Given the description of an element on the screen output the (x, y) to click on. 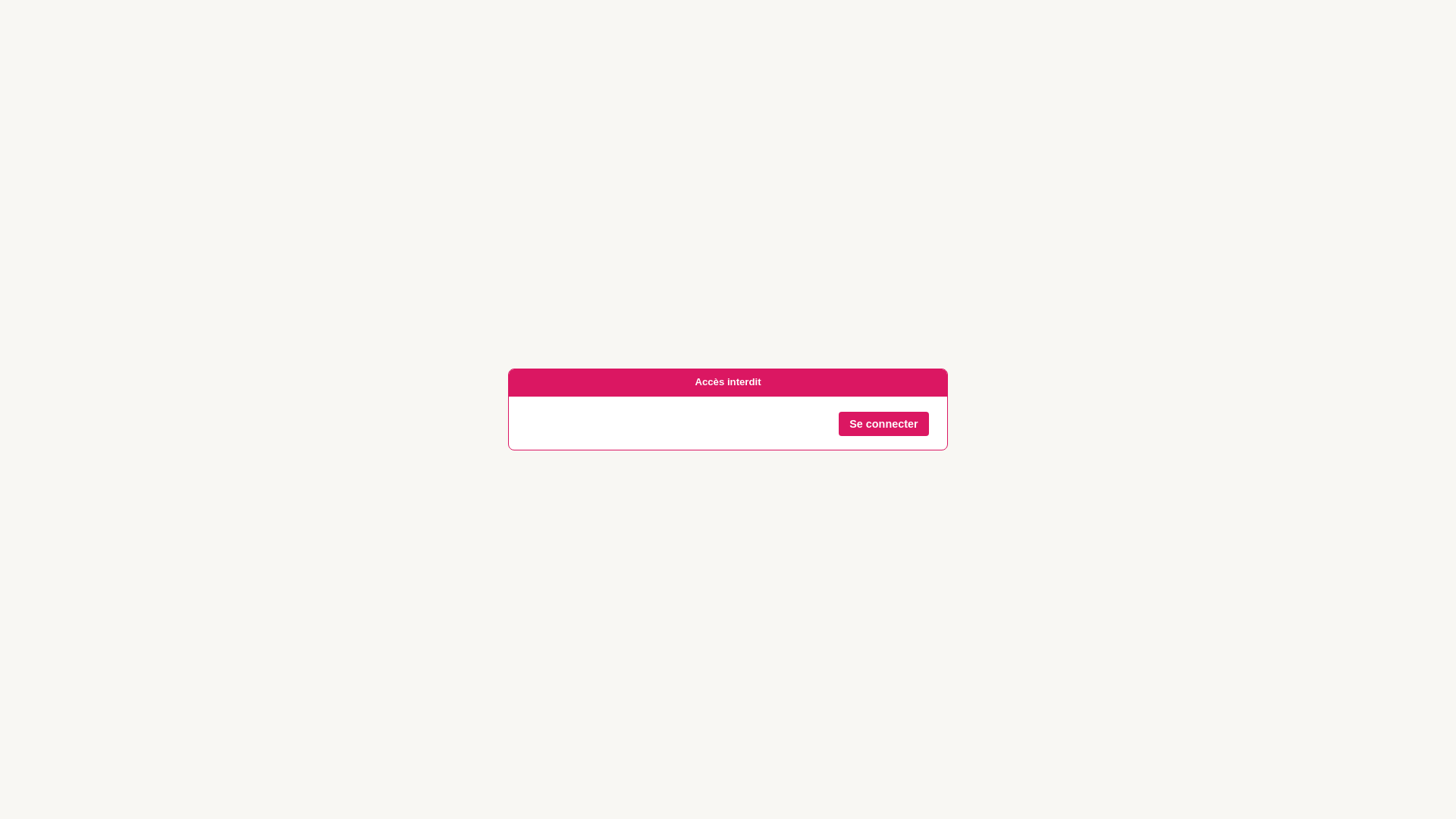
Se connecter Element type: text (883, 423)
